Given the description of an element on the screen output the (x, y) to click on. 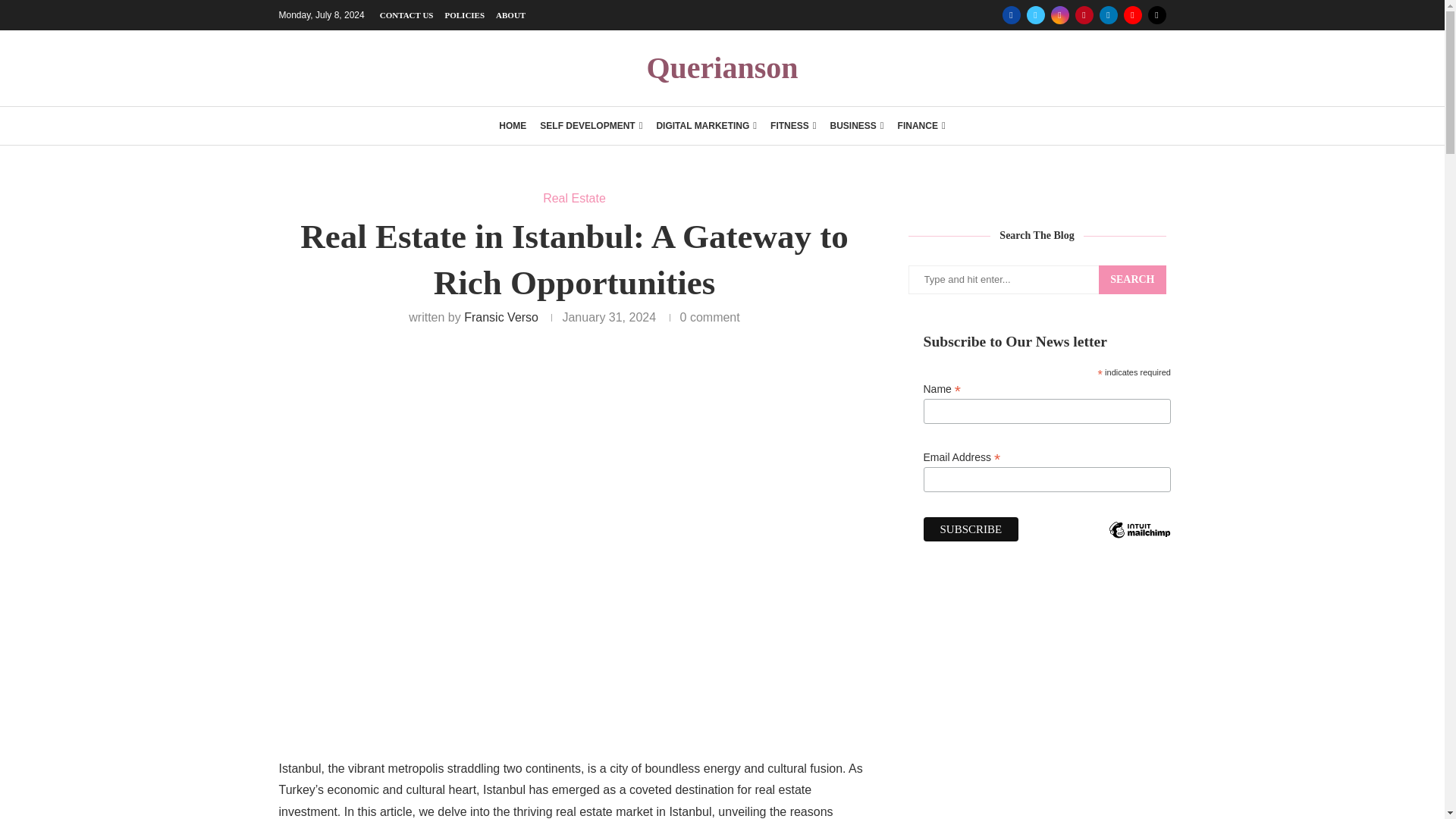
Subscribe (971, 528)
